Given the description of an element on the screen output the (x, y) to click on. 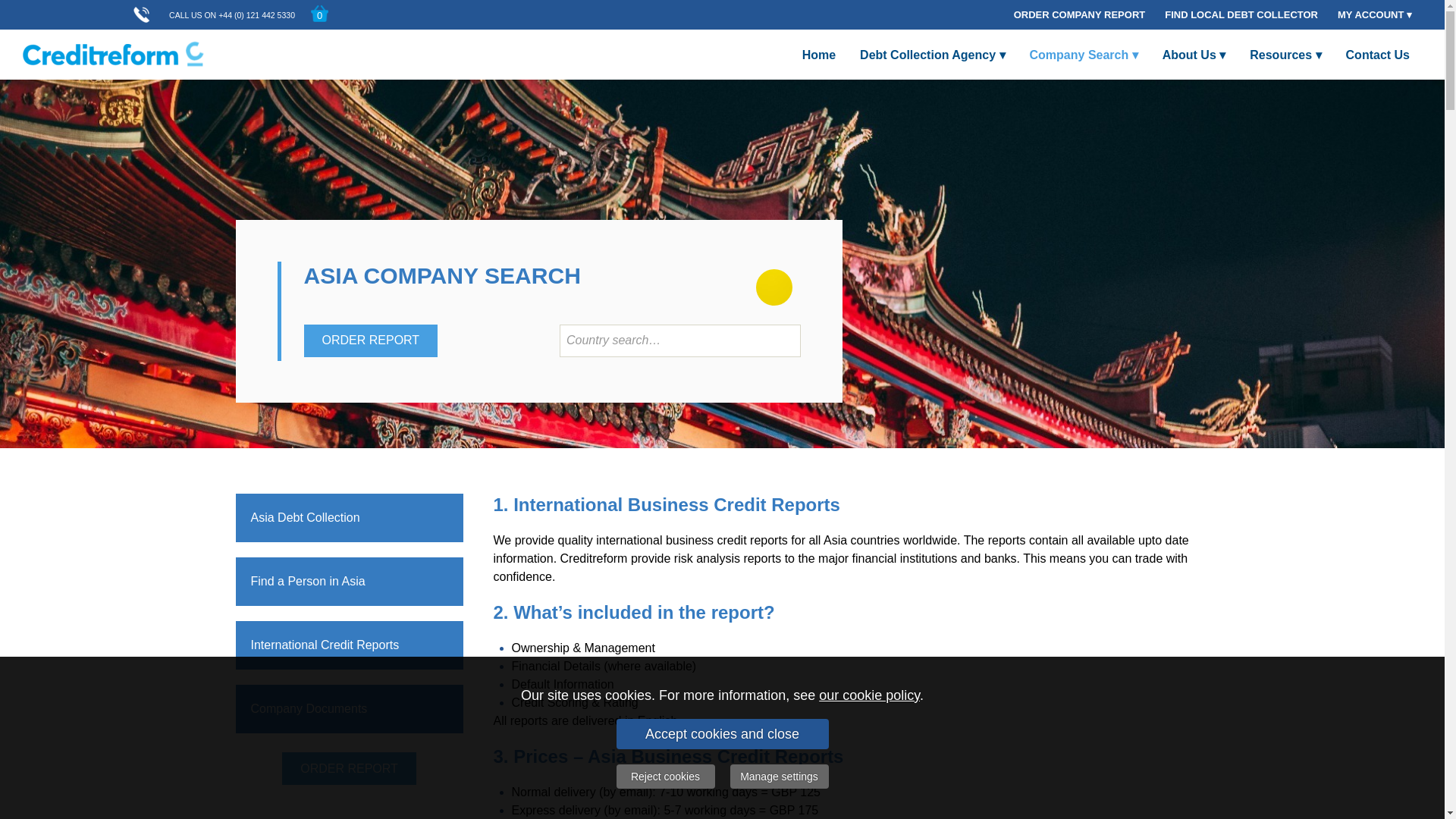
0 (320, 13)
FIND LOCAL DEBT COLLECTOR (1240, 14)
Home (818, 53)
Company Search (1083, 53)
Debt Collection Agency (931, 53)
ORDER COMPANY REPORT (1080, 14)
